Given the description of an element on the screen output the (x, y) to click on. 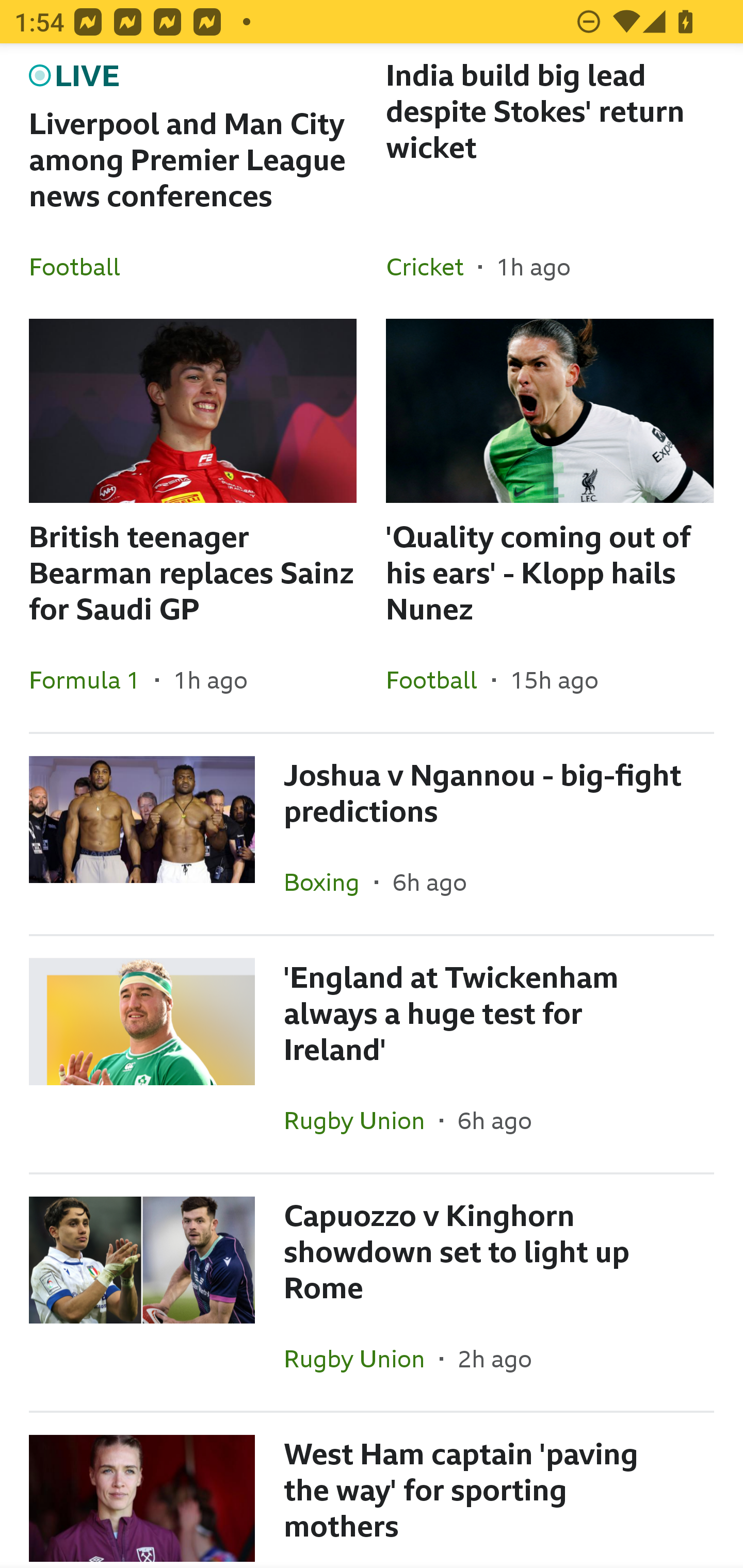
Football In the section Football (81, 266)
Cricket In the section Cricket (431, 266)
Formula 1 In the section Formula 1 (91, 679)
Football In the section Football (438, 679)
Boxing In the section Boxing (328, 881)
Rugby Union In the section Rugby Union (361, 1119)
Rugby Union In the section Rugby Union (361, 1358)
